Given the description of an element on the screen output the (x, y) to click on. 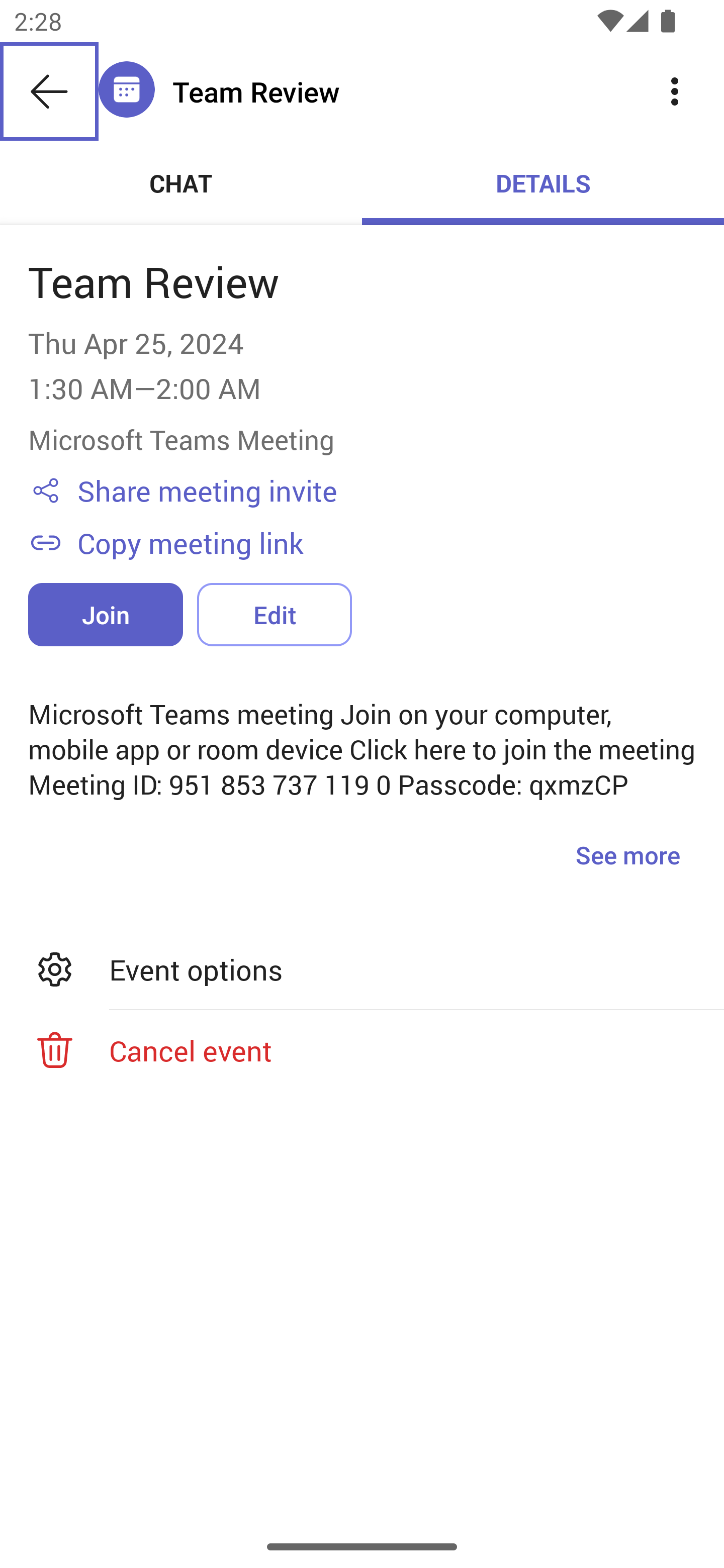
Back (49, 91)
More options (674, 90)
Team Review (398, 91)
Chat CHAT (181, 183)
Share meeting invite Share meeting invite link. (386, 490)
Copy meeting link (386, 542)
Join (105, 614)
Edit (273, 614)
See more See more detailed description (626, 854)
Event options (362, 968)
Cancel event button Cancel event (362, 1050)
